Given the description of an element on the screen output the (x, y) to click on. 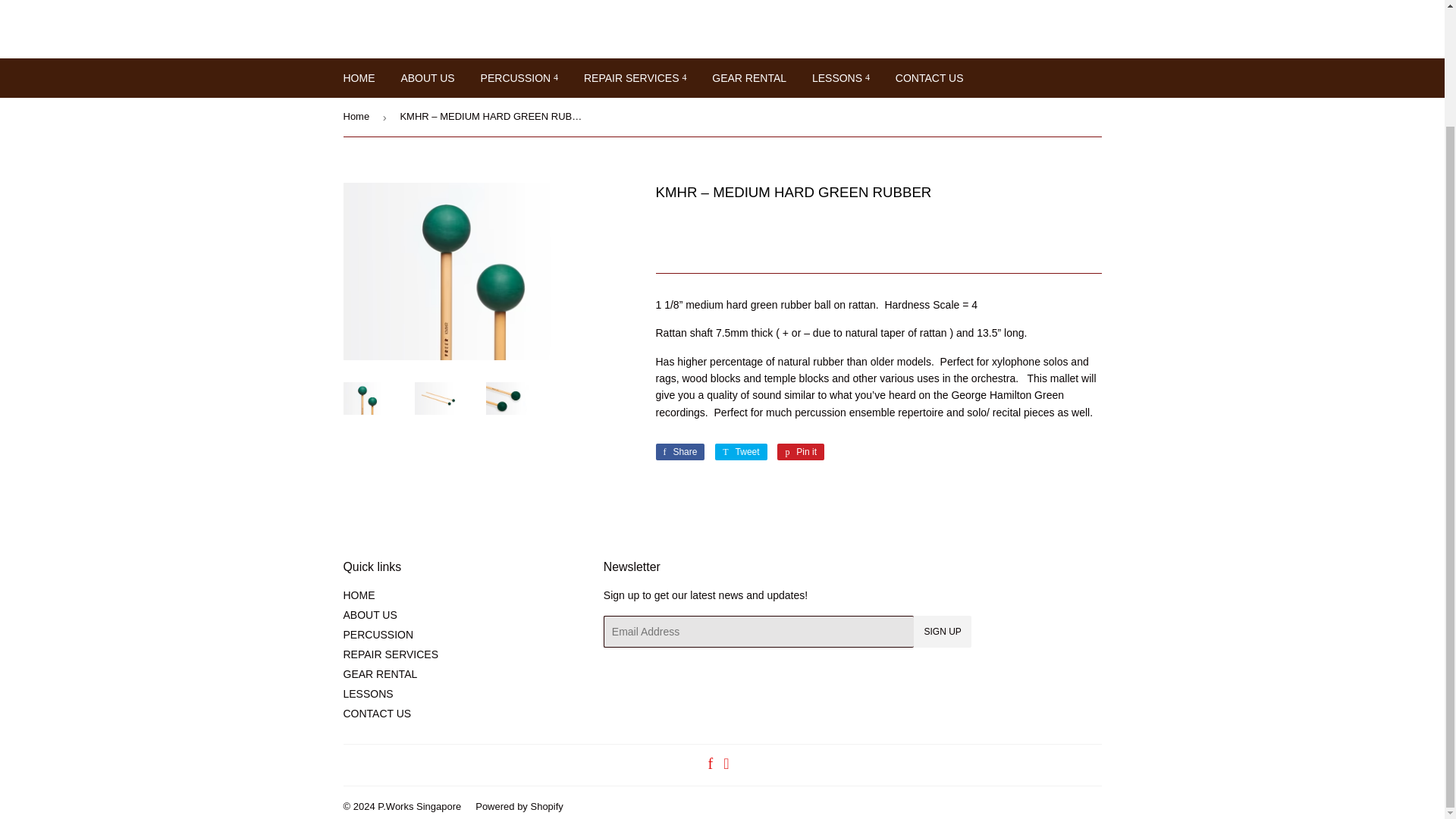
Pin on Pinterest (800, 451)
Tweet on Twitter (740, 451)
Share on Facebook (679, 451)
